Given the description of an element on the screen output the (x, y) to click on. 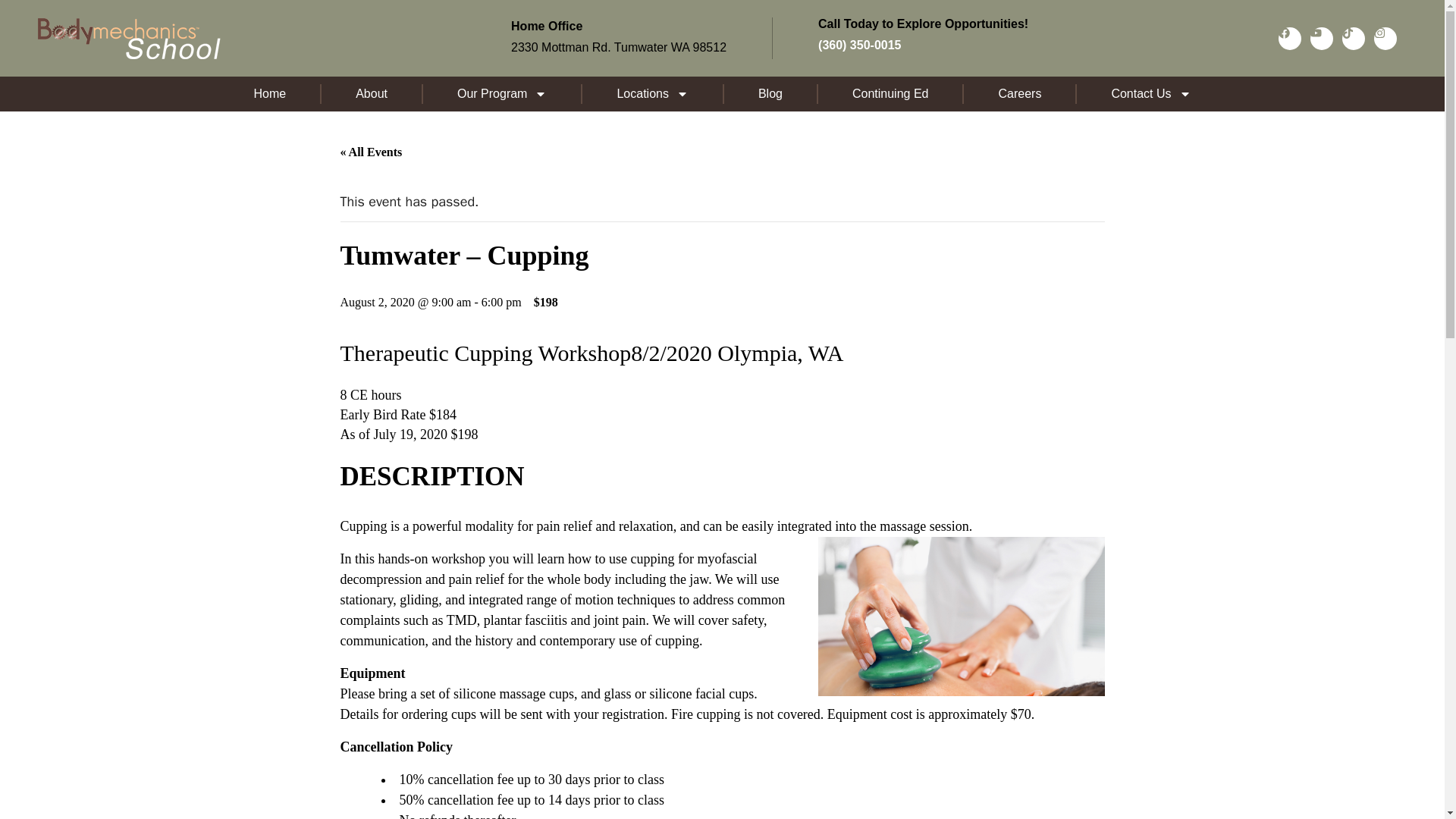
Home (269, 94)
Our Program (501, 94)
Continuing Ed (890, 94)
Locations (652, 94)
Blog (769, 94)
About (371, 94)
Careers (1019, 94)
Contact Us (1150, 94)
